Given the description of an element on the screen output the (x, y) to click on. 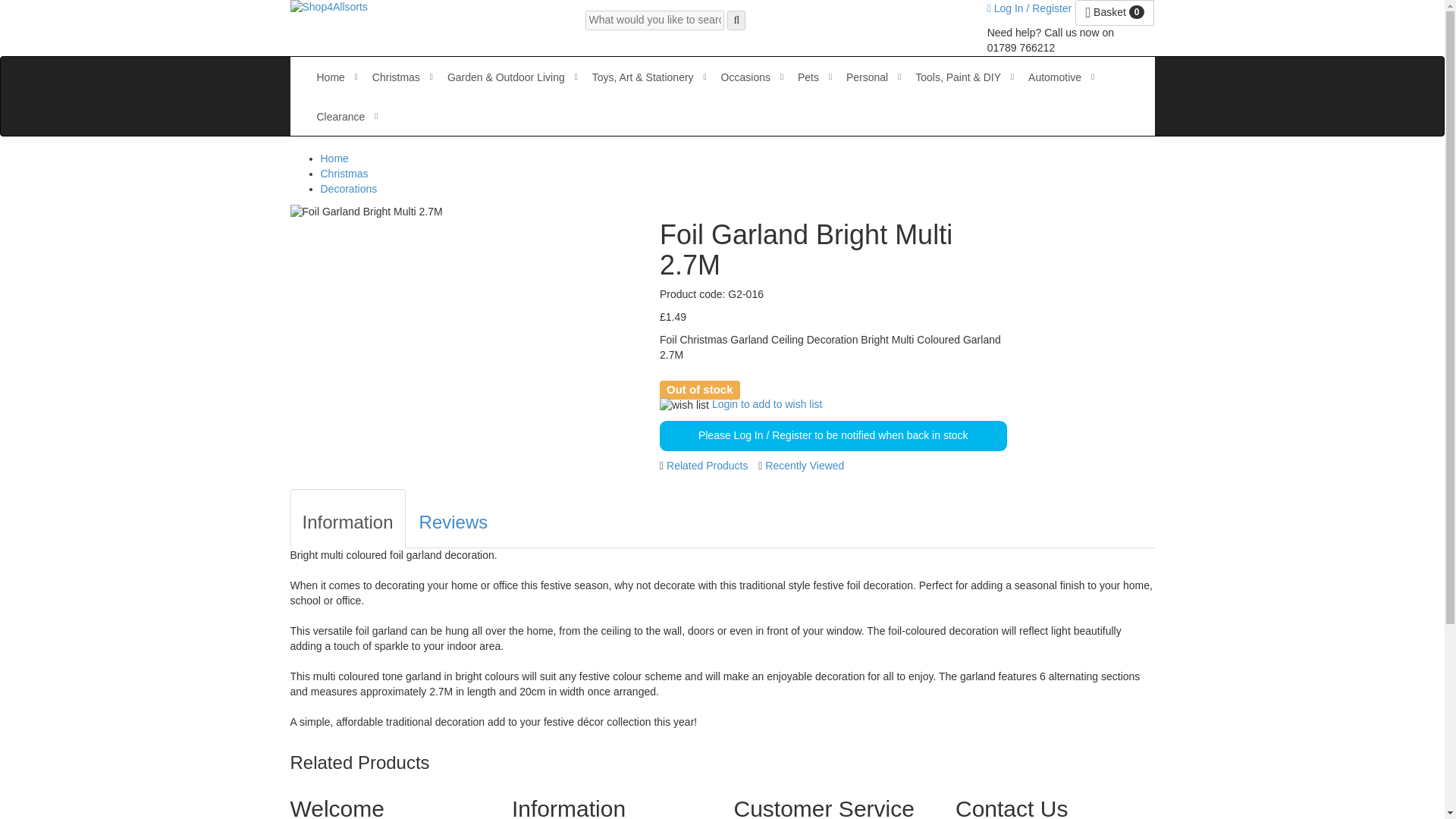
Christmas (395, 77)
Basket 0 (1114, 12)
Shop4Allsorts (327, 7)
Home (330, 77)
Submit (735, 20)
wish list (684, 405)
